Given the description of an element on the screen output the (x, y) to click on. 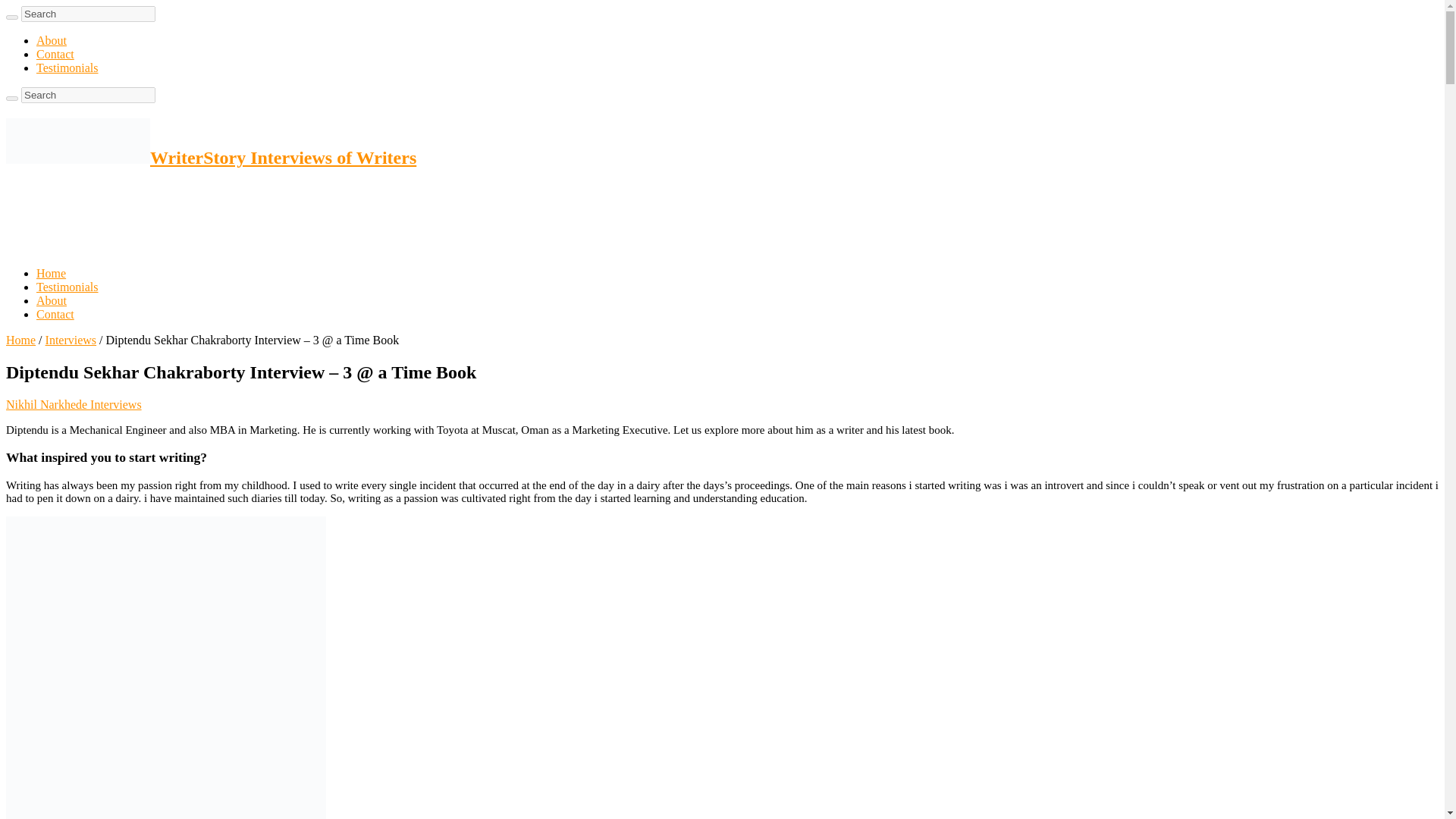
Testimonials (67, 67)
Interviews (71, 339)
Search (88, 94)
Search (11, 98)
Search (88, 94)
Interviews (115, 404)
WriterStory Interviews of Writers (210, 157)
About (51, 40)
Nikhil Narkhede (47, 404)
Contact (55, 53)
WriterStory (210, 157)
Testimonials (67, 286)
About (51, 300)
Home (19, 339)
Home (50, 273)
